Given the description of an element on the screen output the (x, y) to click on. 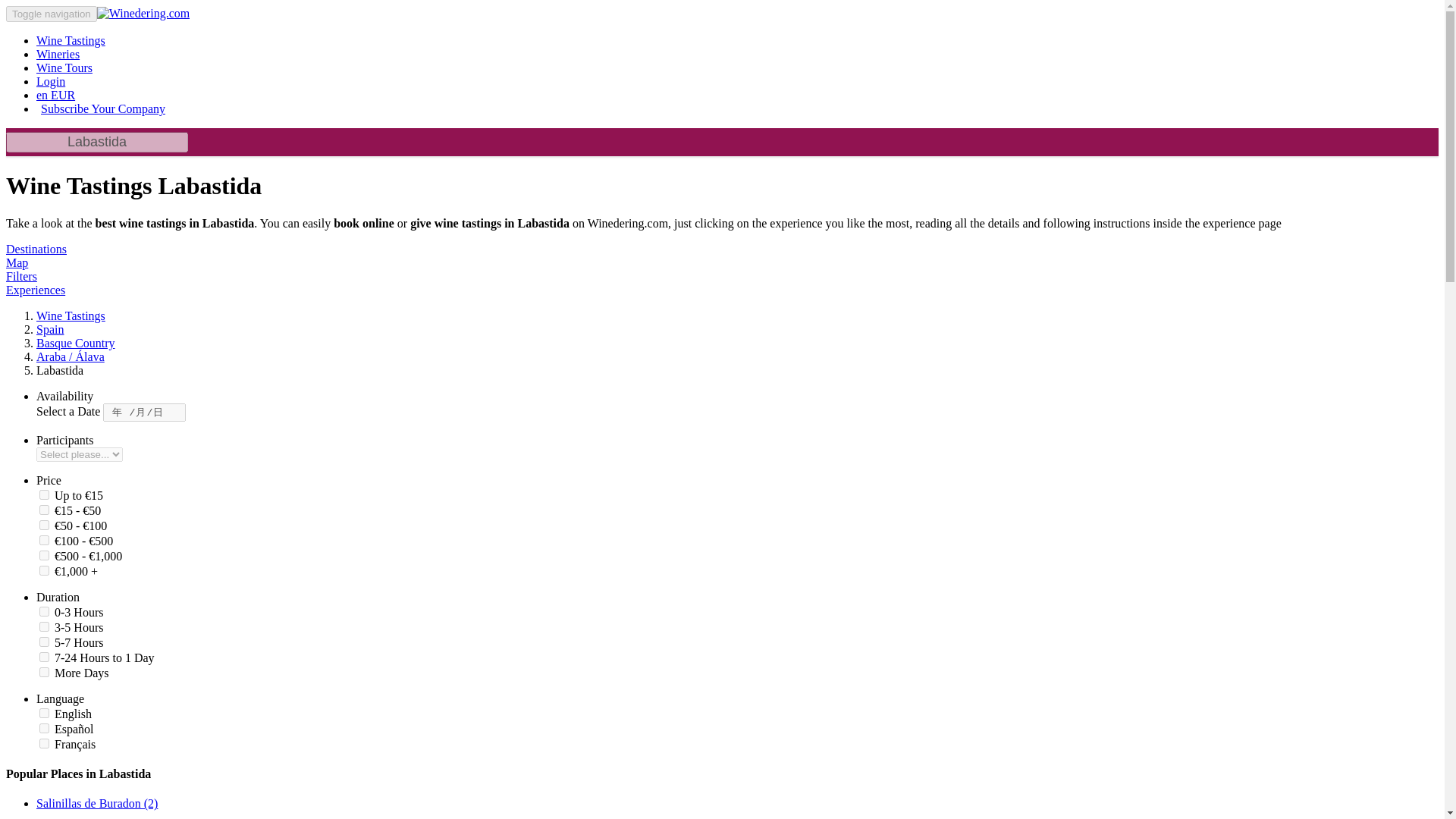
1501-5000 (44, 510)
Subscribe Your Company (103, 108)
0-1500 (44, 494)
es (44, 728)
7-24 (44, 656)
Destinations (35, 248)
5-7 (44, 642)
Toggle navigation (51, 13)
Filters (21, 276)
10001-50000 (44, 540)
Map (16, 262)
5001-10000 (44, 524)
Basque Country (75, 342)
Experiences (35, 289)
en EUR (55, 94)
